Given the description of an element on the screen output the (x, y) to click on. 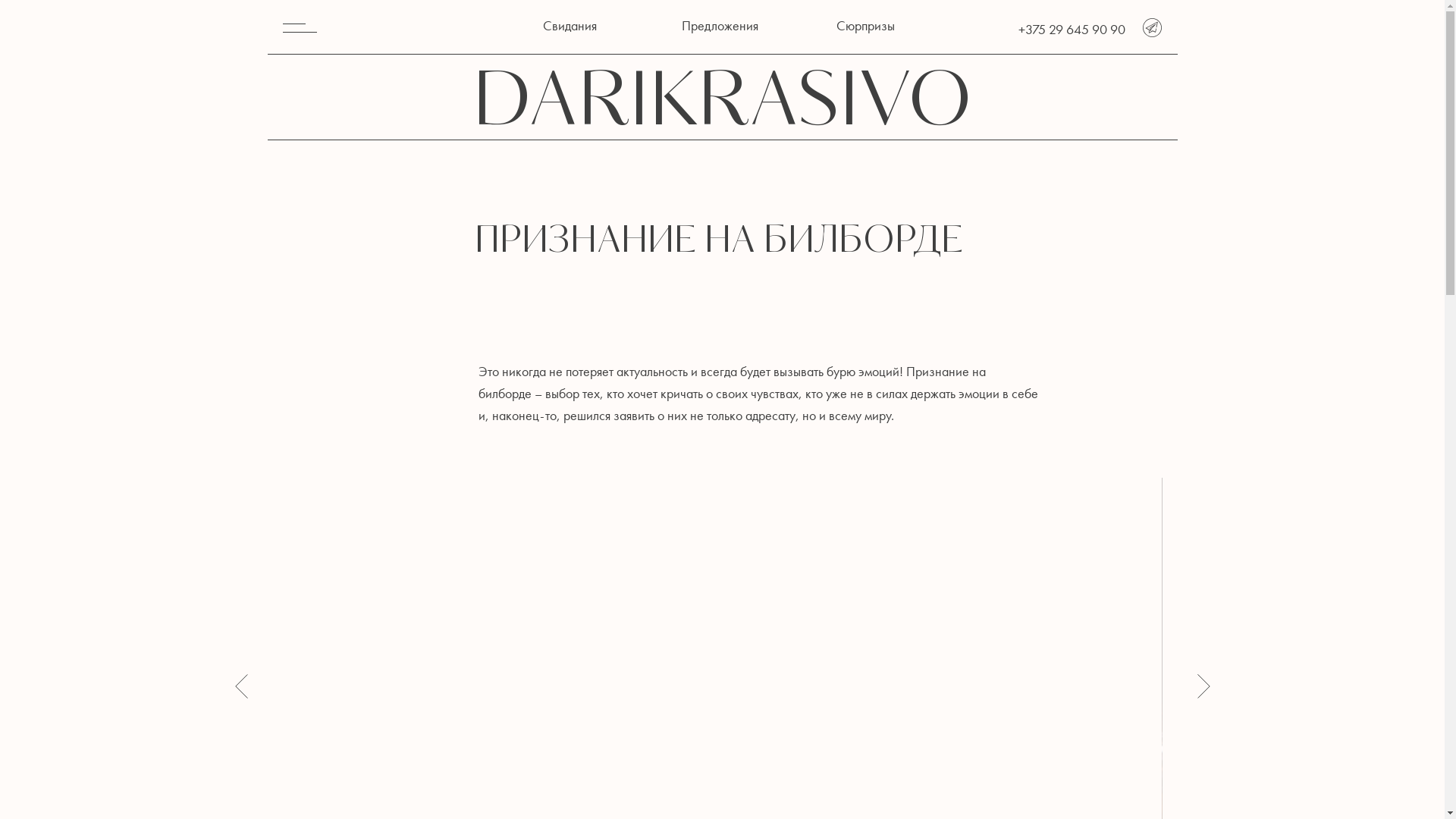
+375 29 645 90 90 Element type: text (1070, 28)
